Given the description of an element on the screen output the (x, y) to click on. 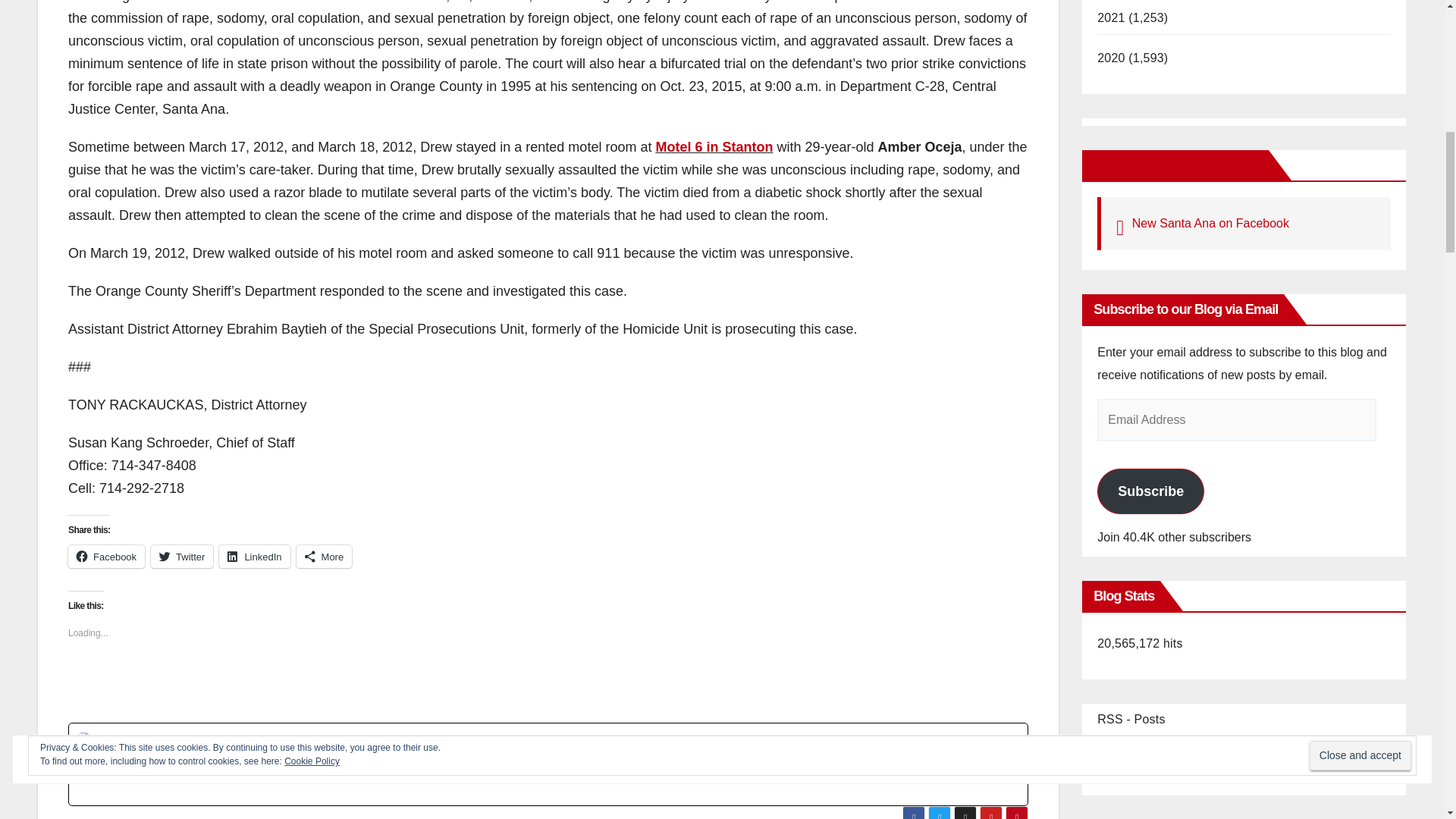
Click to share on Twitter (181, 556)
Motel 6 in Stanton (714, 146)
Facebook (106, 556)
Click to share on LinkedIn (254, 556)
LinkedIn (254, 556)
Twitter (181, 556)
Click to share on Facebook (106, 556)
More (324, 556)
